Given the description of an element on the screen output the (x, y) to click on. 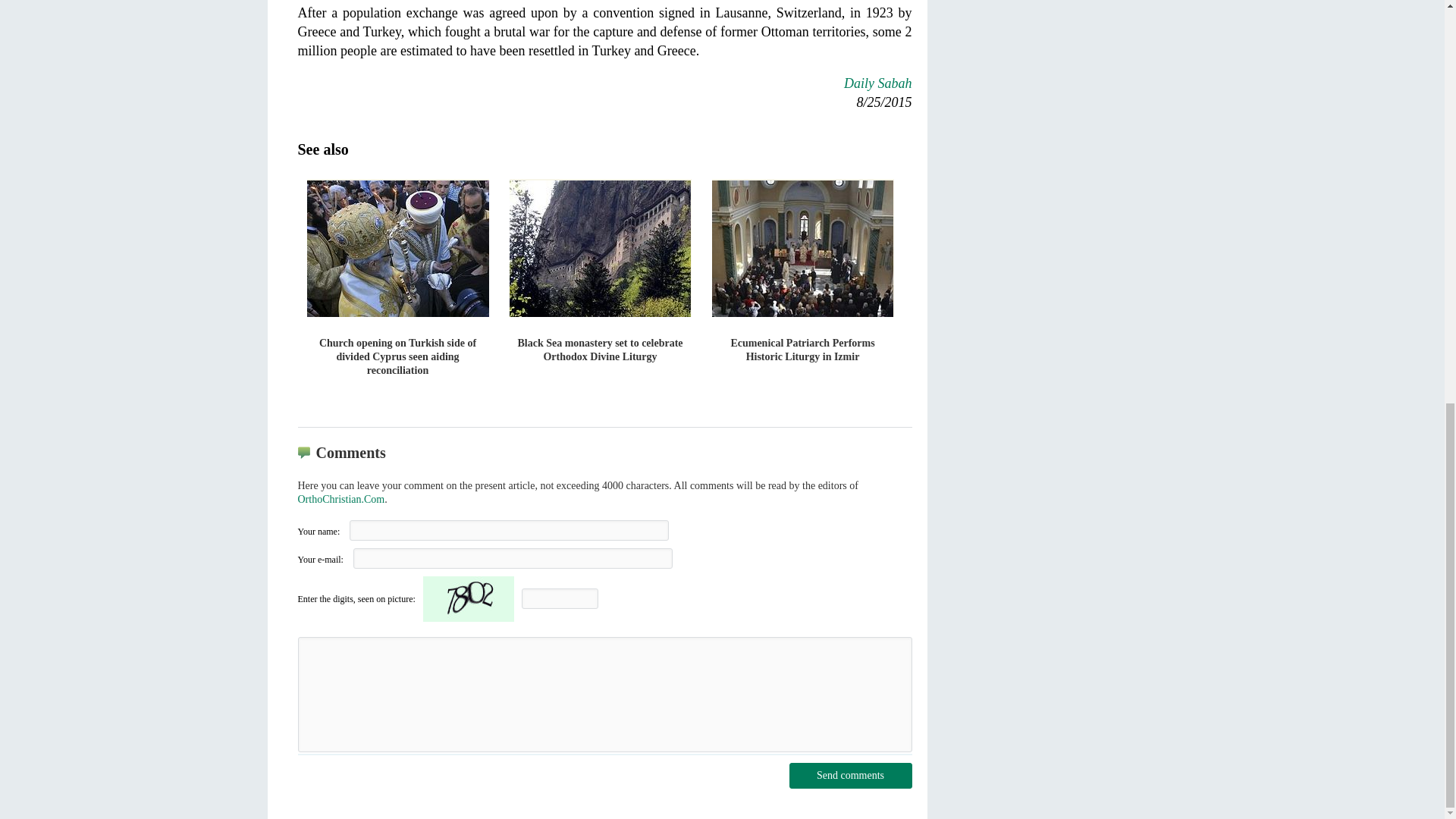
Daily Sabah (878, 83)
Ecumenical Patriarch Performs Historic Liturgy in Izmir (802, 276)
Black Sea monastery set to celebrate Orthodox Divine Liturgy (600, 276)
